Given the description of an element on the screen output the (x, y) to click on. 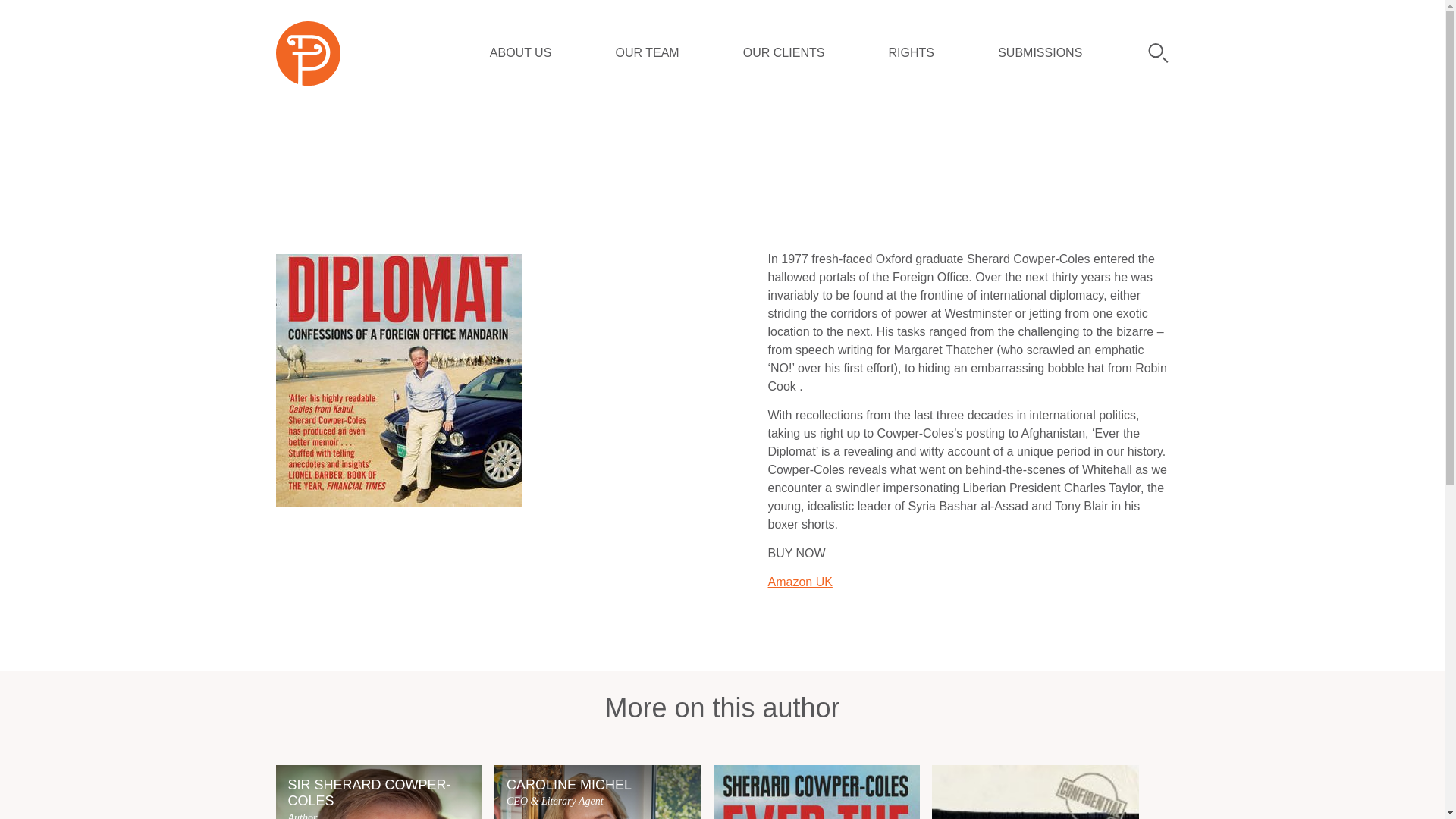
ABOUT US (520, 53)
Amazon UK (799, 581)
OUR TEAM (646, 53)
RIGHTS (911, 53)
SUBMISSIONS (1039, 53)
OUR CLIENTS (379, 791)
